Given the description of an element on the screen output the (x, y) to click on. 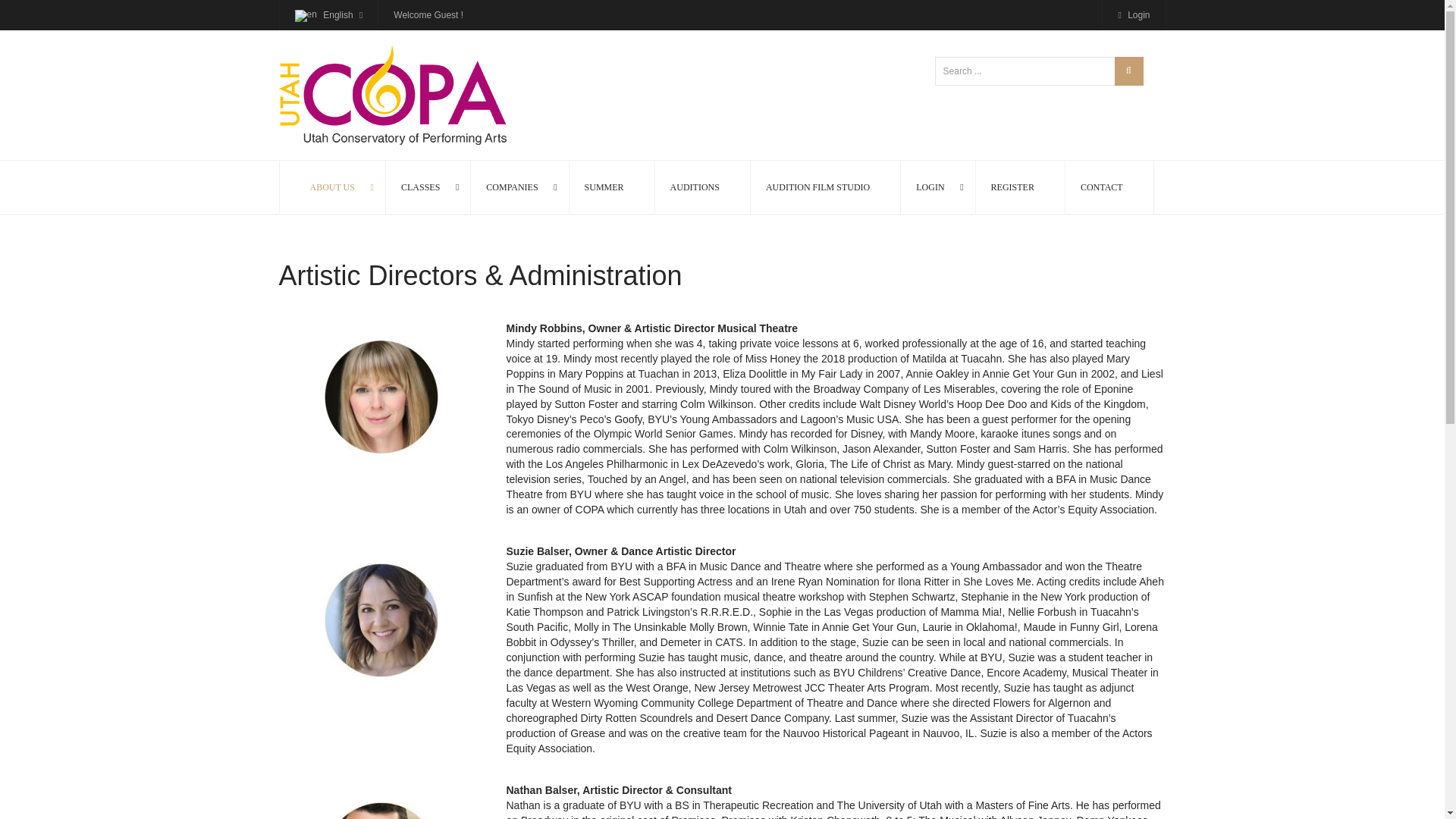
AUDITIONS (694, 186)
SUMMER (603, 186)
English (328, 14)
COMPANIES (511, 186)
Guest (445, 14)
REGISTER (1012, 186)
Login (1134, 14)
CLASSES (420, 186)
AUDITION FILM STUDIO (817, 186)
LOGIN (929, 186)
ABOUT US (331, 186)
